Given the description of an element on the screen output the (x, y) to click on. 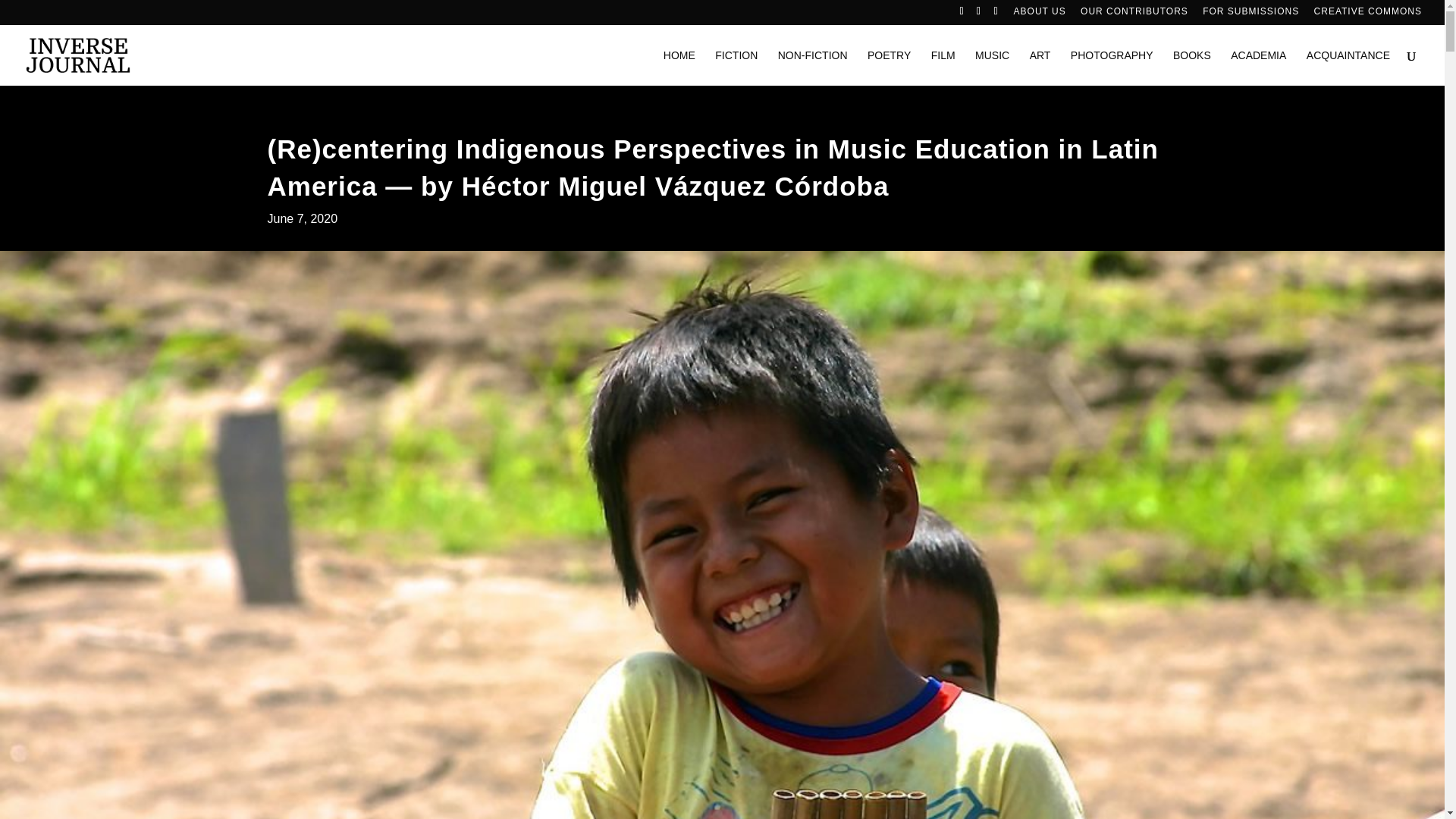
HOME (679, 67)
ACADEMIA (1257, 67)
FICTION (735, 67)
CREATIVE COMMONS (1368, 14)
PHOTOGRAPHY (1111, 67)
BOOKS (1192, 67)
OUR CONTRIBUTORS (1134, 14)
ACQUAINTANCE (1348, 67)
NON-FICTION (812, 67)
POETRY (889, 67)
ABOUT US (1039, 14)
FOR SUBMISSIONS (1250, 14)
MUSIC (992, 67)
